Given the description of an element on the screen output the (x, y) to click on. 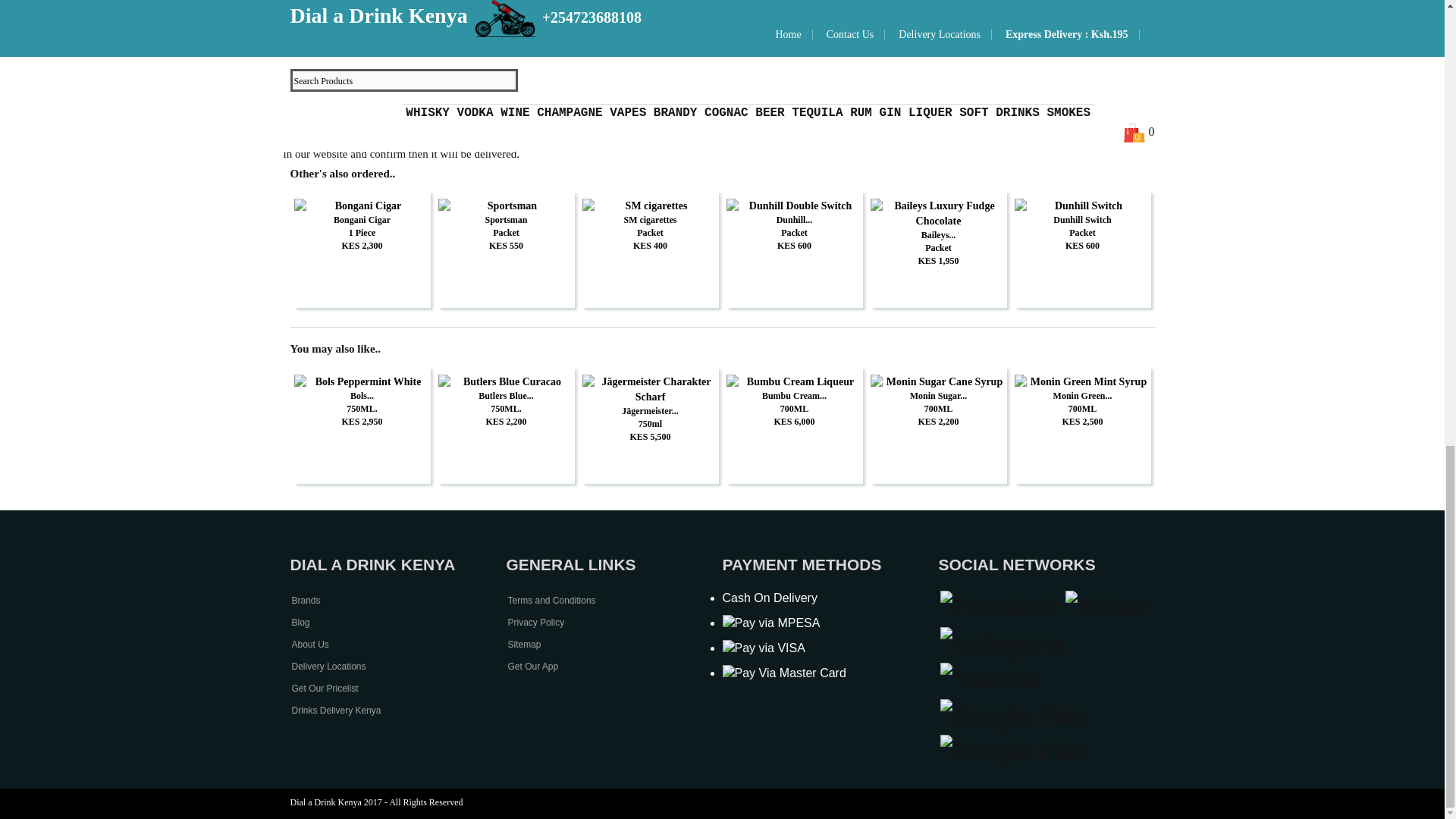
Dunhill Double Switch (794, 206)
Bongani Cigar (362, 206)
Sportsman  (506, 219)
Sportsman  (506, 206)
SM cigarettes (650, 206)
Bongani Cigar (362, 219)
SM cigarettes (650, 219)
